Given the description of an element on the screen output the (x, y) to click on. 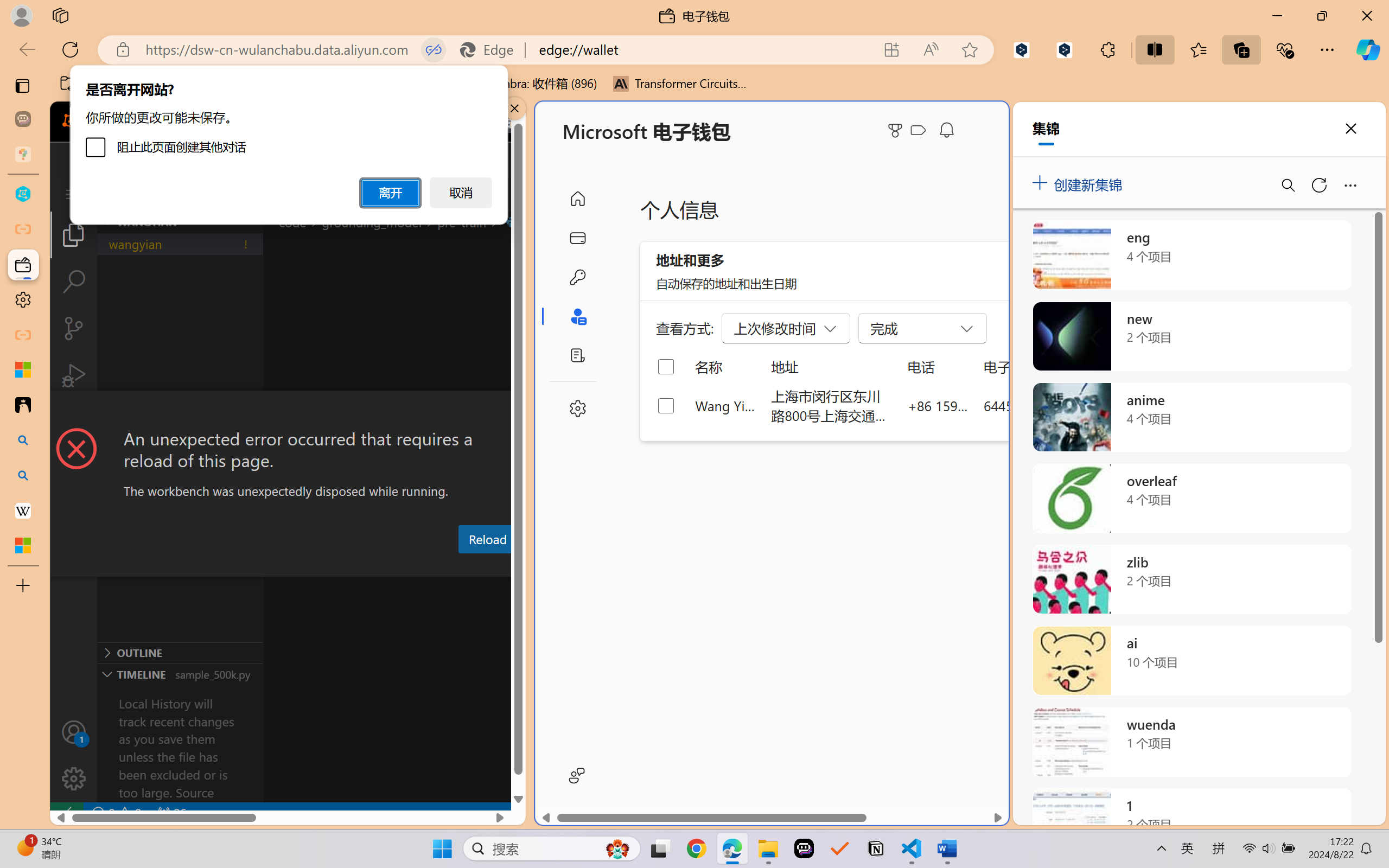
Manage (73, 755)
Microsoft security help and learning (22, 369)
Problems (Ctrl+Shift+M) (308, 565)
Microsoft Cashback (920, 130)
Earth - Wikipedia (22, 510)
